Given the description of an element on the screen output the (x, y) to click on. 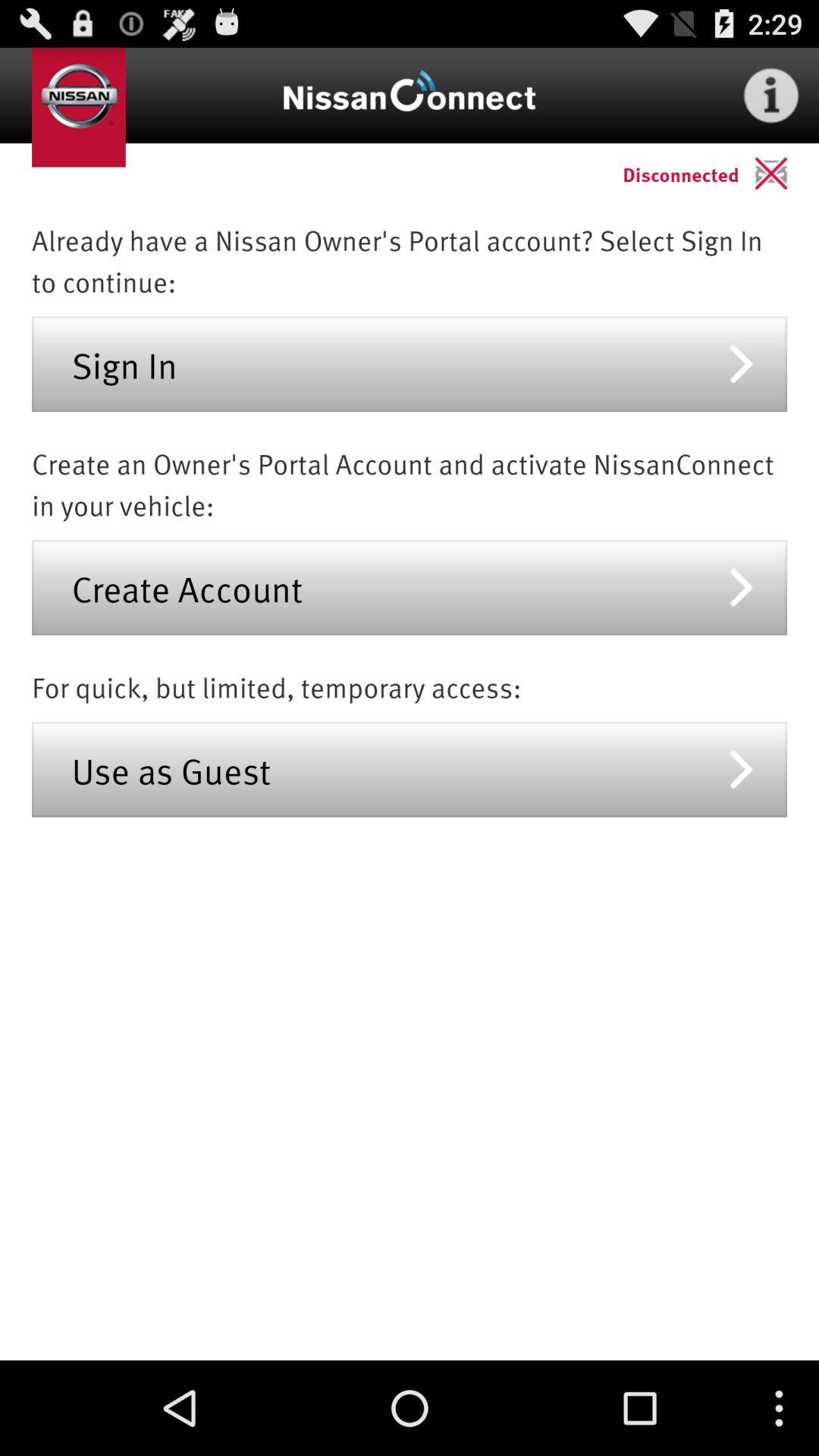
choose app above already have a app (787, 173)
